Given the description of an element on the screen output the (x, y) to click on. 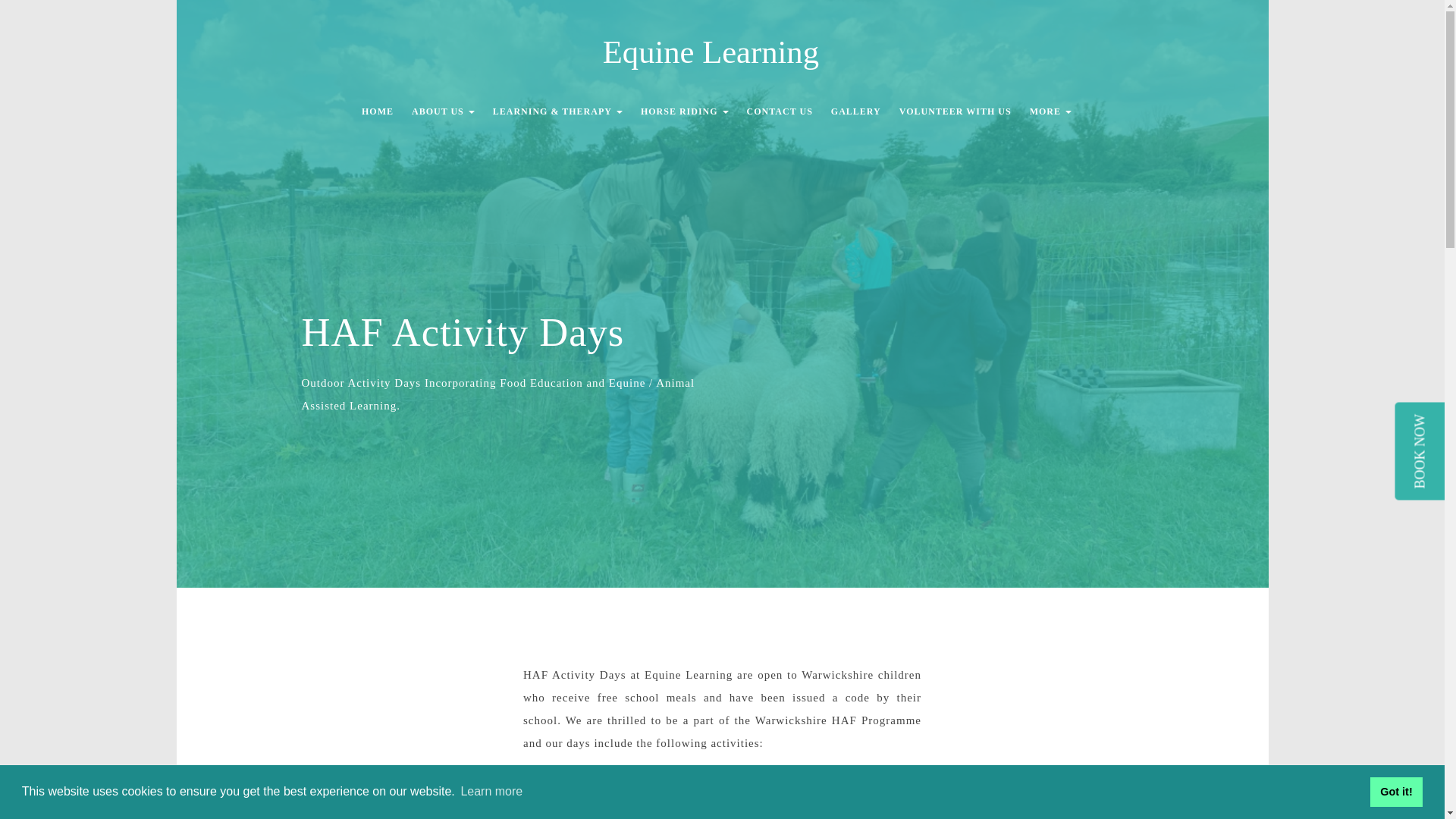
MORE (1050, 111)
HORSE RIDING (684, 111)
Equine Learning (721, 53)
HOME (377, 111)
Equine Learning (721, 54)
VOLUNTEER WITH US (954, 111)
ABOUT US (443, 111)
GALLERY (855, 111)
Got it! (1396, 791)
CONTACT US (780, 111)
